Given the description of an element on the screen output the (x, y) to click on. 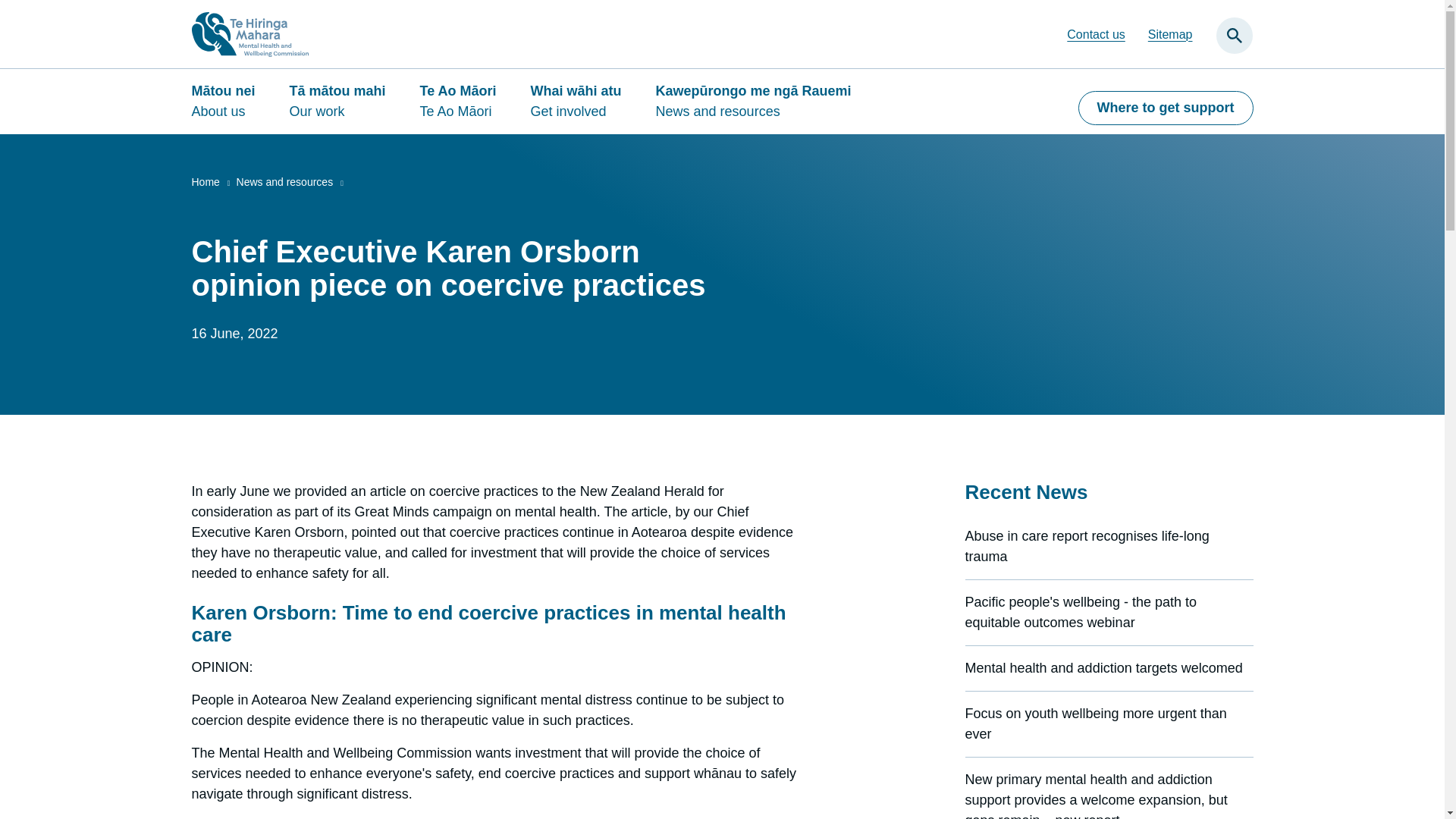
Focus on youth wellbeing more urgent than ever (1094, 723)
Mental health and addiction targets welcomed (1102, 667)
Sitemap (1170, 33)
Abuse in care report recognises life-long trauma (1085, 546)
Contact us (1095, 33)
Where to get support (1165, 107)
